Given the description of an element on the screen output the (x, y) to click on. 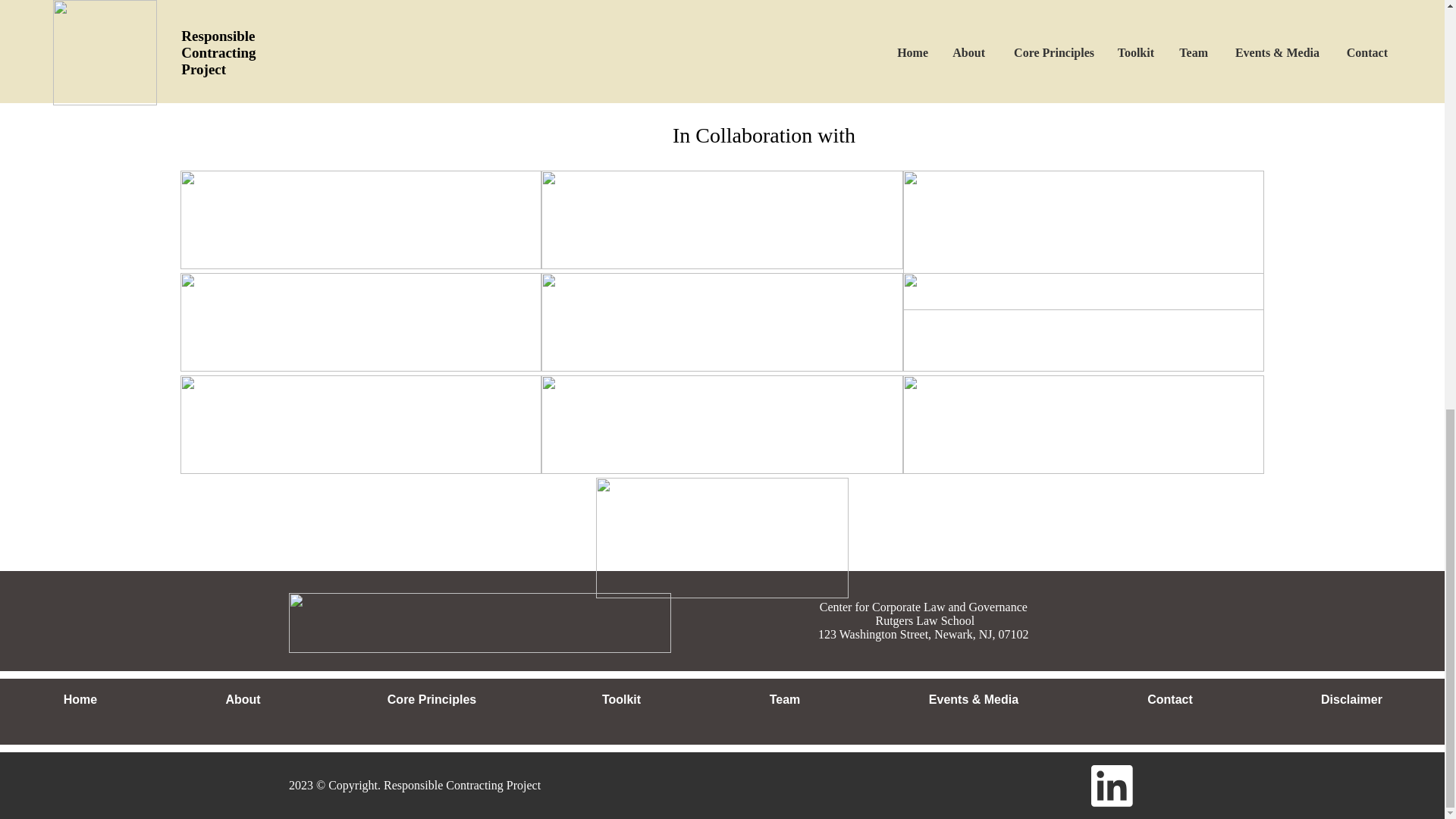
Team (783, 699)
About (242, 699)
Toolkit (620, 699)
Home (80, 699)
Core Principles (431, 699)
Contact (1169, 699)
